Given the description of an element on the screen output the (x, y) to click on. 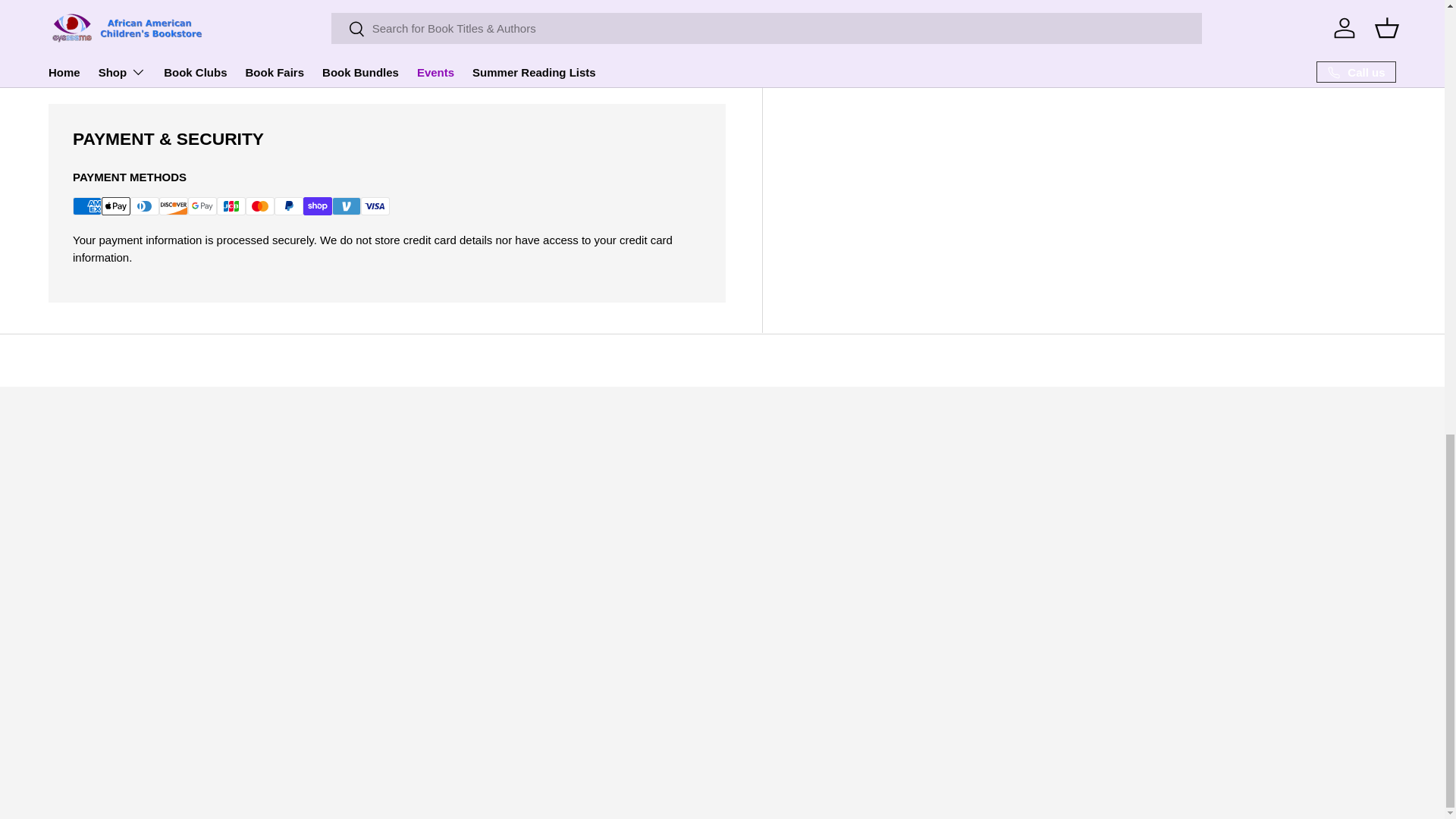
Mastercard (260, 206)
American Express (86, 206)
Diners Club (144, 206)
JCB (231, 206)
Discover (172, 206)
Apple Pay (116, 206)
Google Pay (201, 206)
PayPal (288, 206)
